Given the description of an element on the screen output the (x, y) to click on. 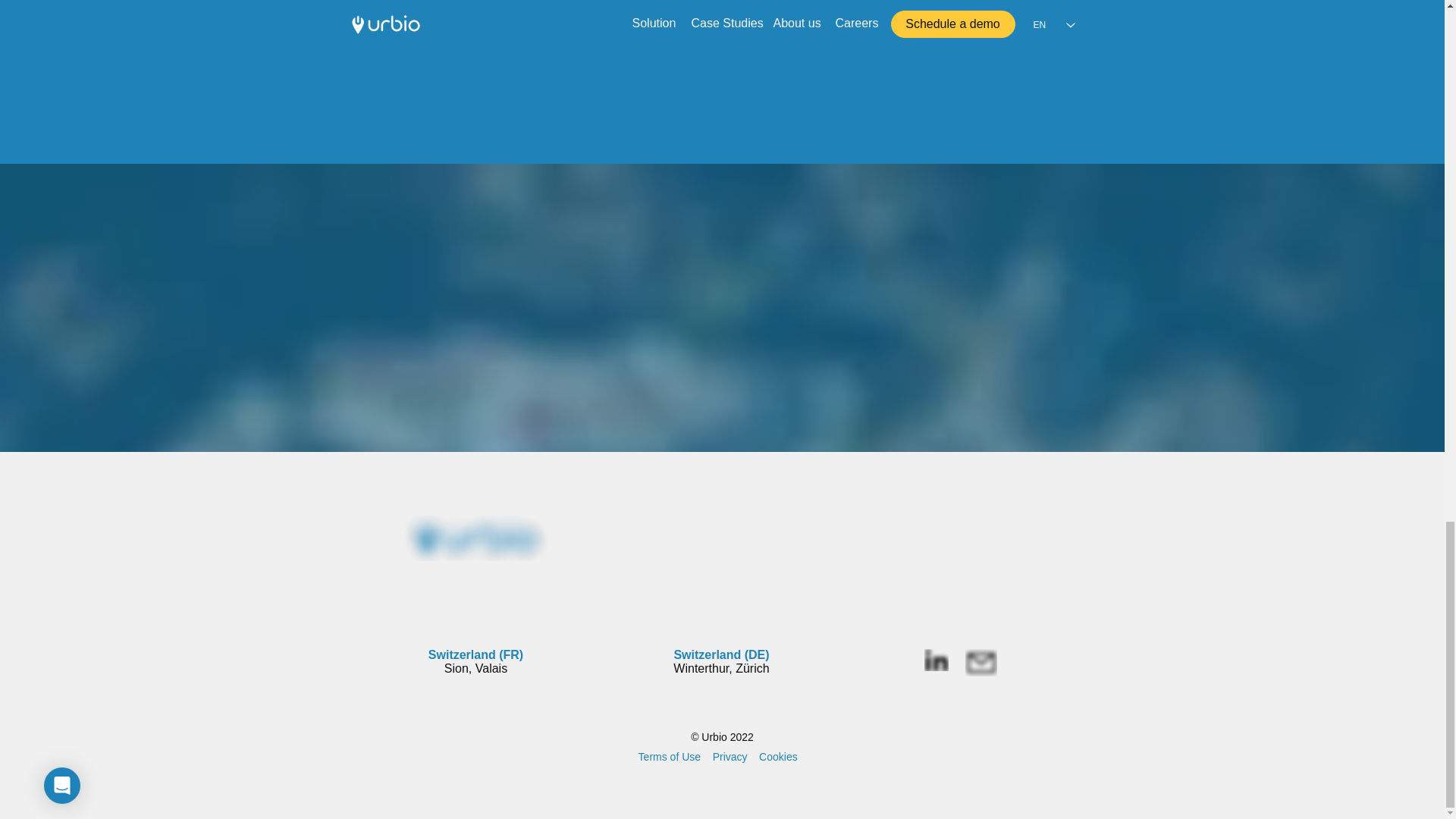
Terms of Use (669, 756)
Privacy (730, 756)
Cookies (777, 756)
